Given the description of an element on the screen output the (x, y) to click on. 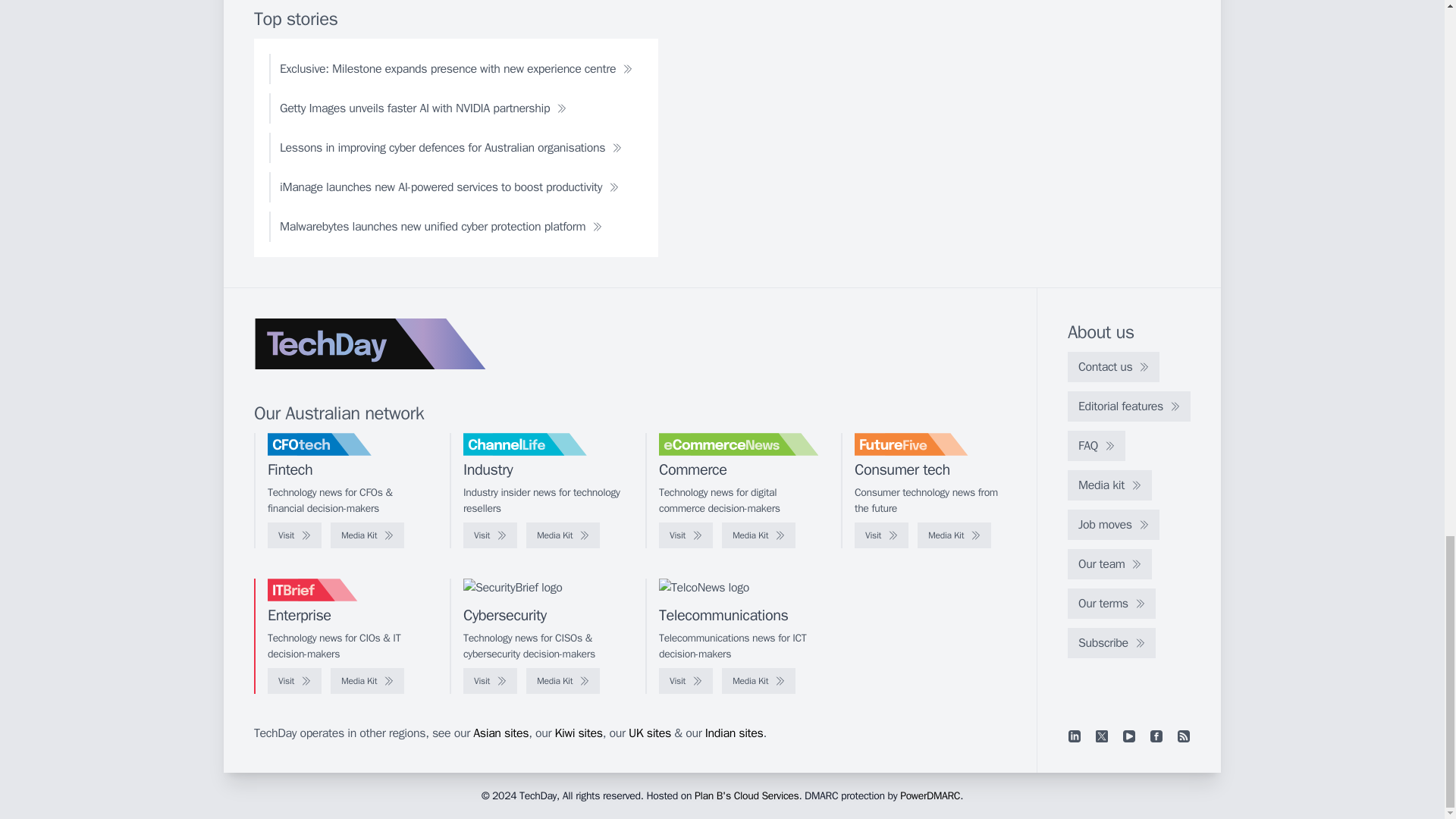
Malwarebytes launches new unified cyber protection platform (440, 226)
Visit (294, 534)
Getty Images unveils faster AI with NVIDIA partnership (422, 108)
Visit (489, 534)
Media Kit (954, 534)
Media Kit (562, 534)
Media Kit (758, 534)
